Given the description of an element on the screen output the (x, y) to click on. 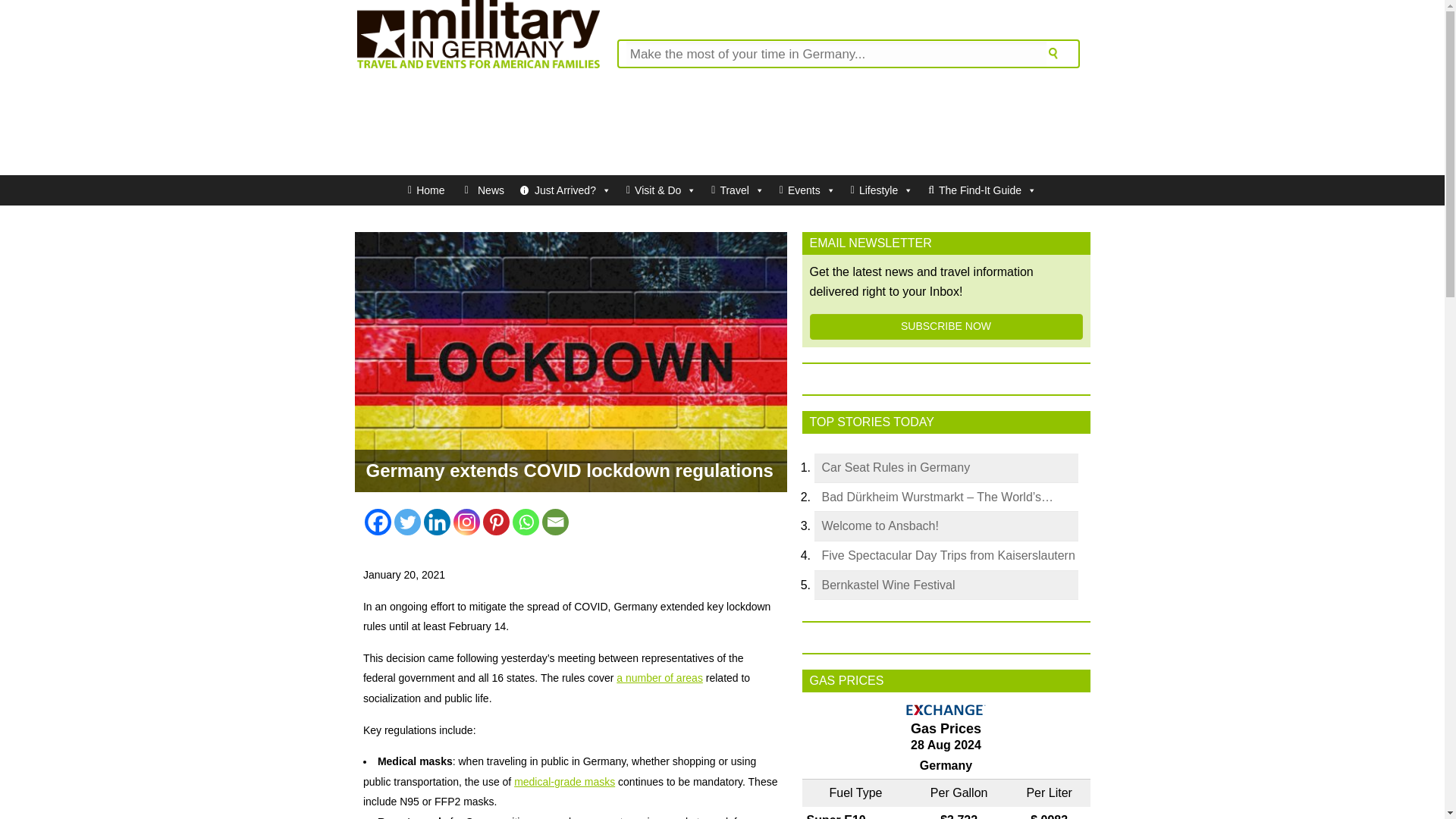
Facebook (378, 521)
Twitter (407, 521)
Calendar of Forthcoming Events (807, 190)
Pinterest (496, 521)
Places to Visit (737, 190)
Instagram (466, 521)
Just Arrived? (565, 190)
Home (425, 190)
Whatsapp (525, 521)
News (481, 190)
